Given the description of an element on the screen output the (x, y) to click on. 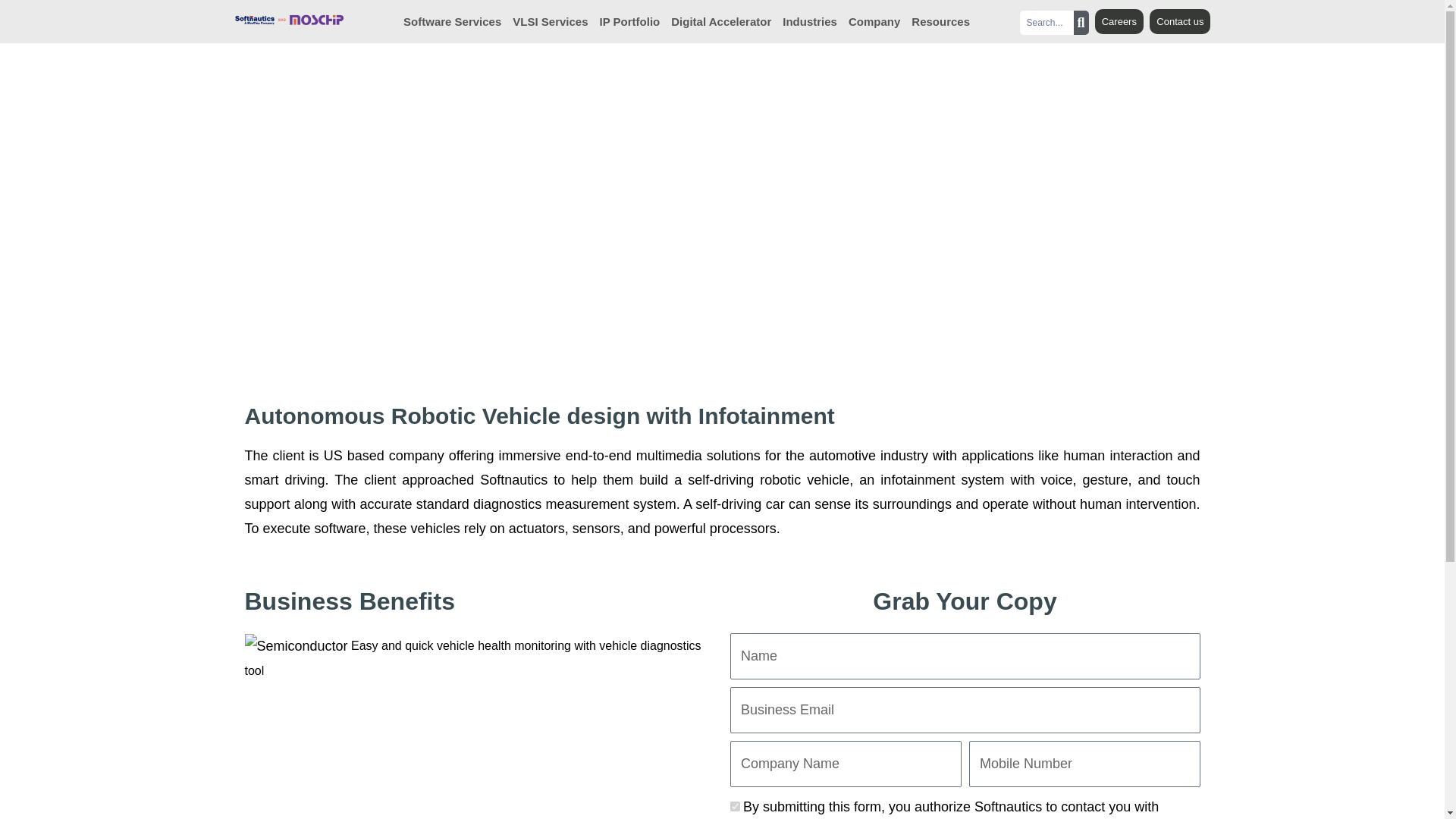
Resources (940, 21)
VLSI Services (550, 21)
on (734, 806)
IP Portfolio (630, 21)
Industries (810, 21)
Digital Accelerator (721, 21)
Search (1046, 22)
Company (873, 21)
Software Services (451, 21)
